Given the description of an element on the screen output the (x, y) to click on. 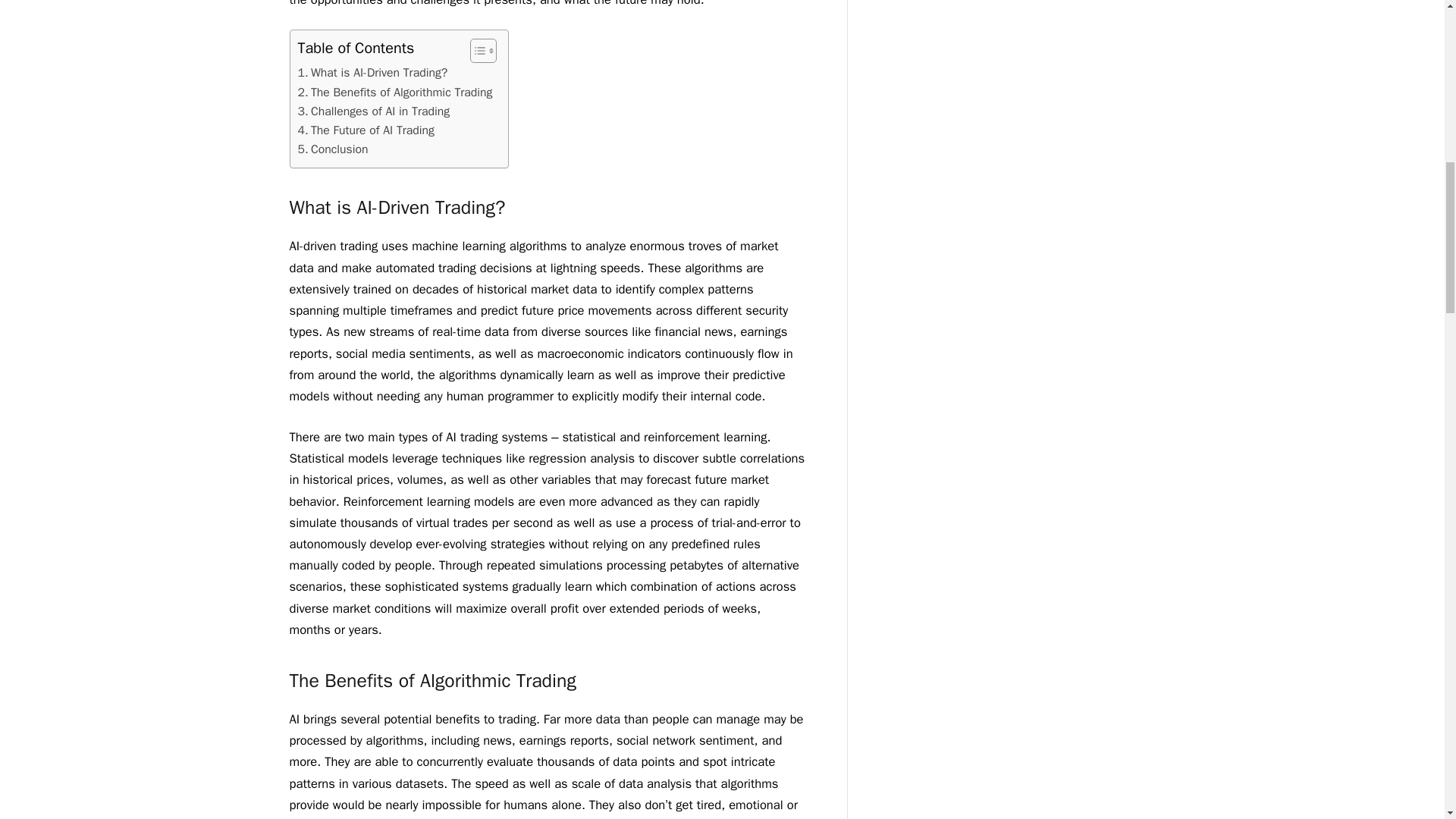
What is AI-Driven Trading? (373, 72)
